Given the description of an element on the screen output the (x, y) to click on. 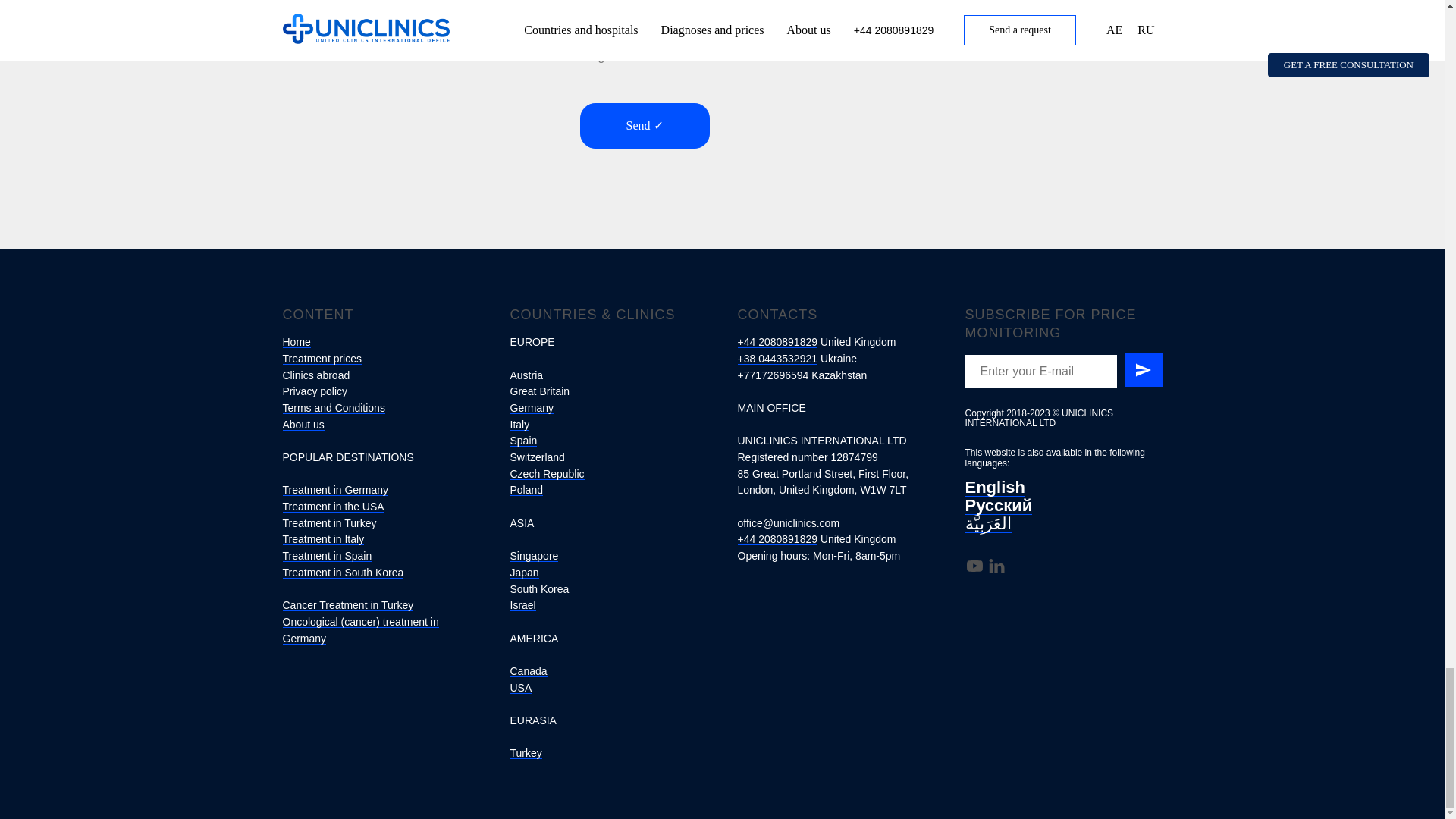
Treatment prices (321, 358)
Home (296, 341)
